Given the description of an element on the screen output the (x, y) to click on. 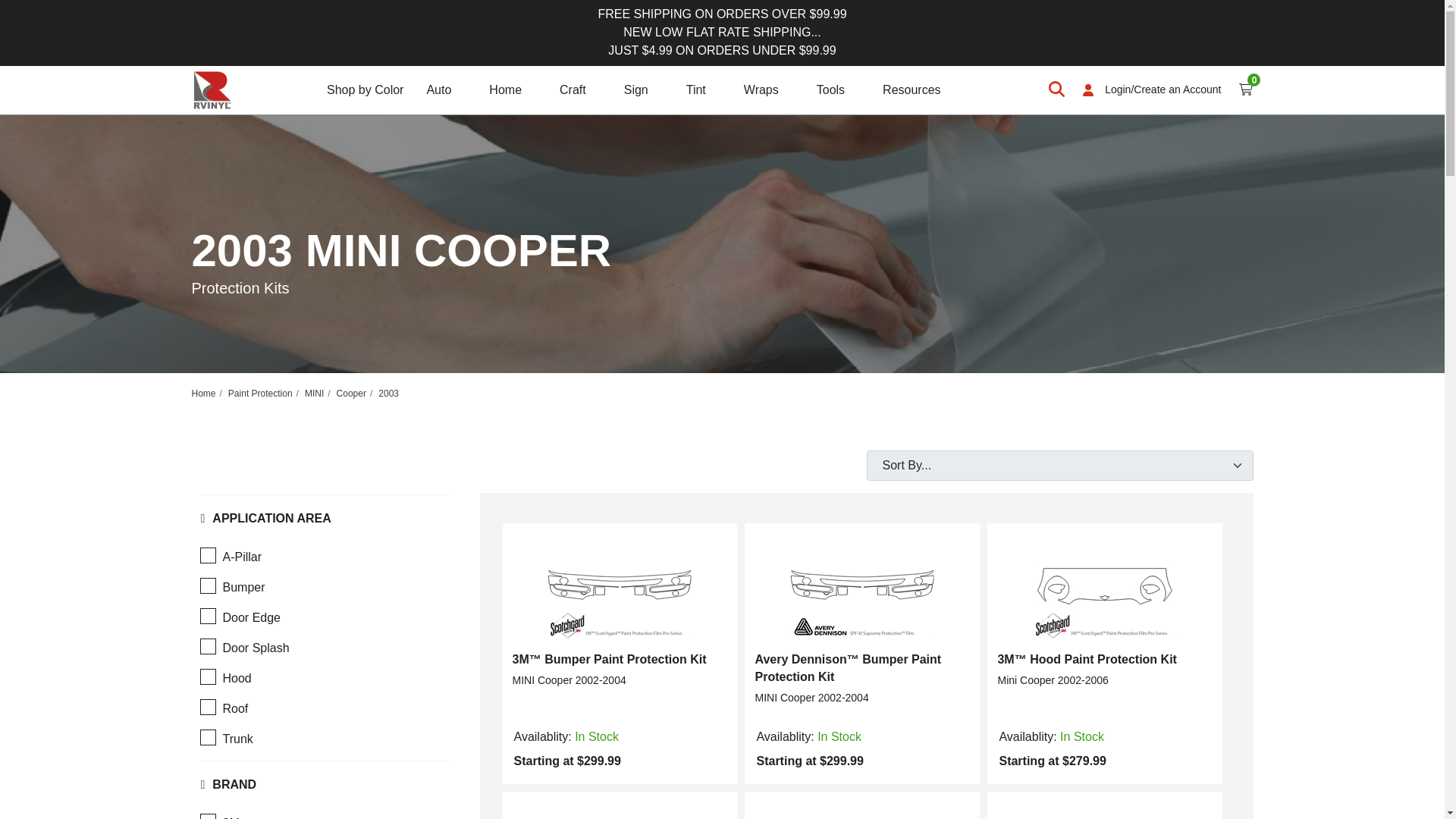
on (207, 616)
on (207, 554)
Opens a widget where you can find more information (1386, 792)
Shop by Color (364, 90)
Auto (438, 90)
on (207, 646)
on (207, 816)
on (207, 585)
on (207, 737)
on (207, 707)
on (207, 676)
